Given the description of an element on the screen output the (x, y) to click on. 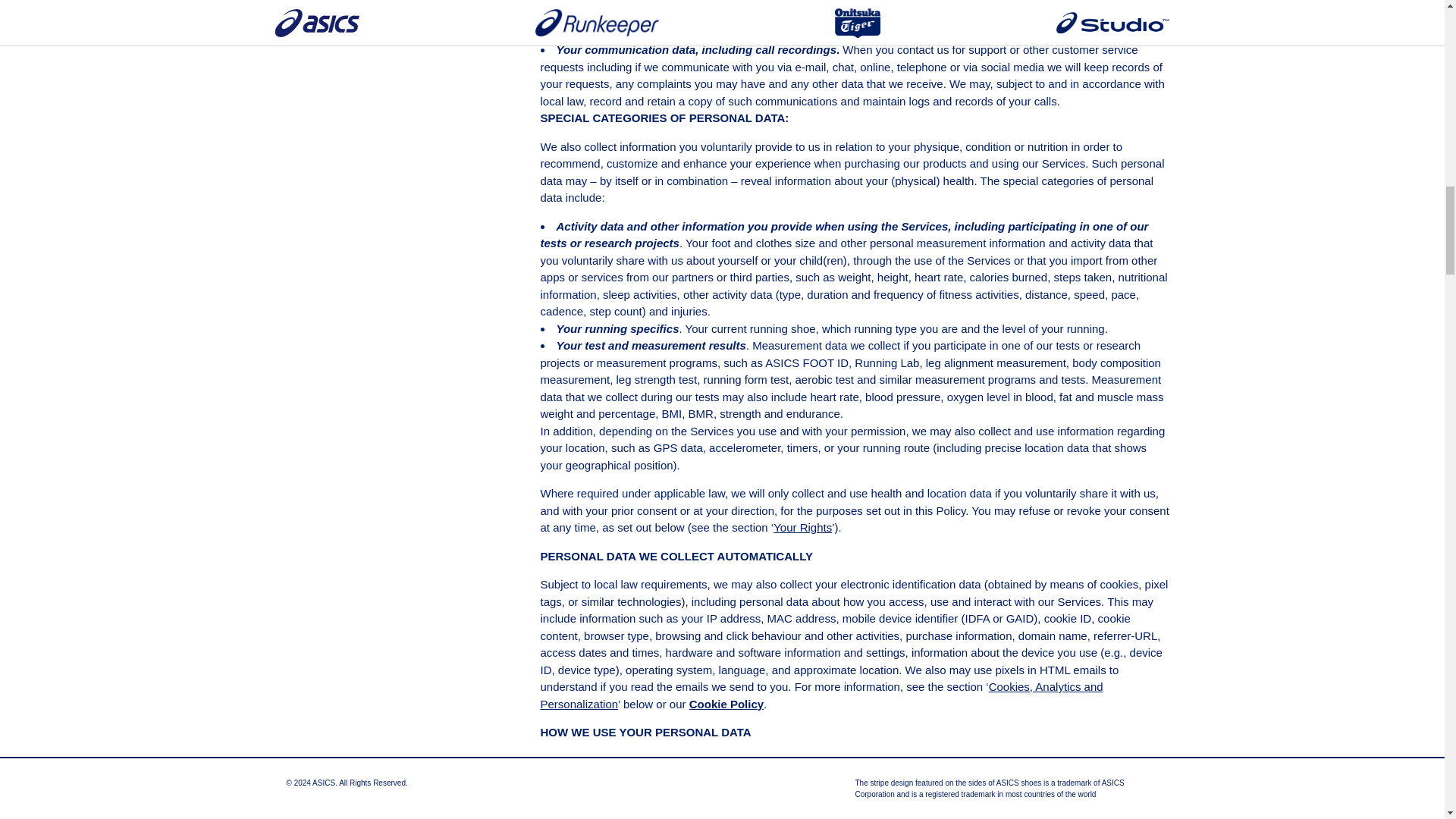
Cookie Policy (725, 703)
